Given the description of an element on the screen output the (x, y) to click on. 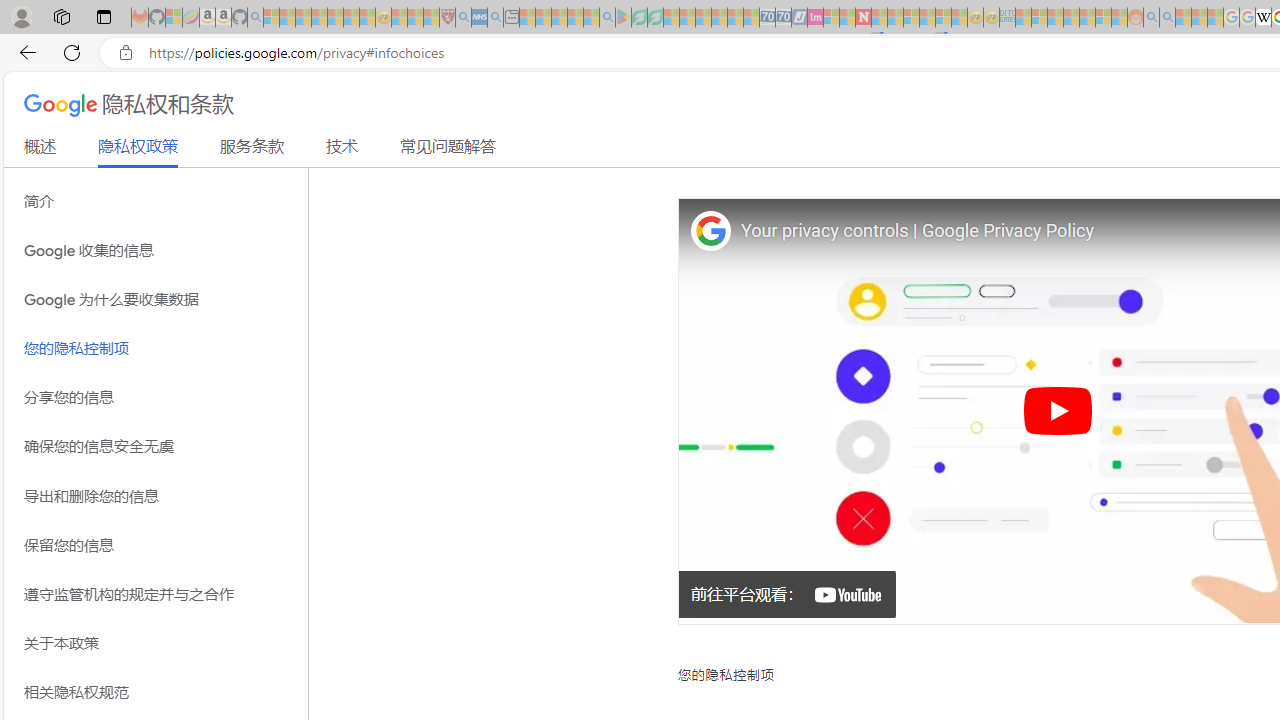
Target page - Wikipedia (1263, 17)
